Given the description of an element on the screen output the (x, y) to click on. 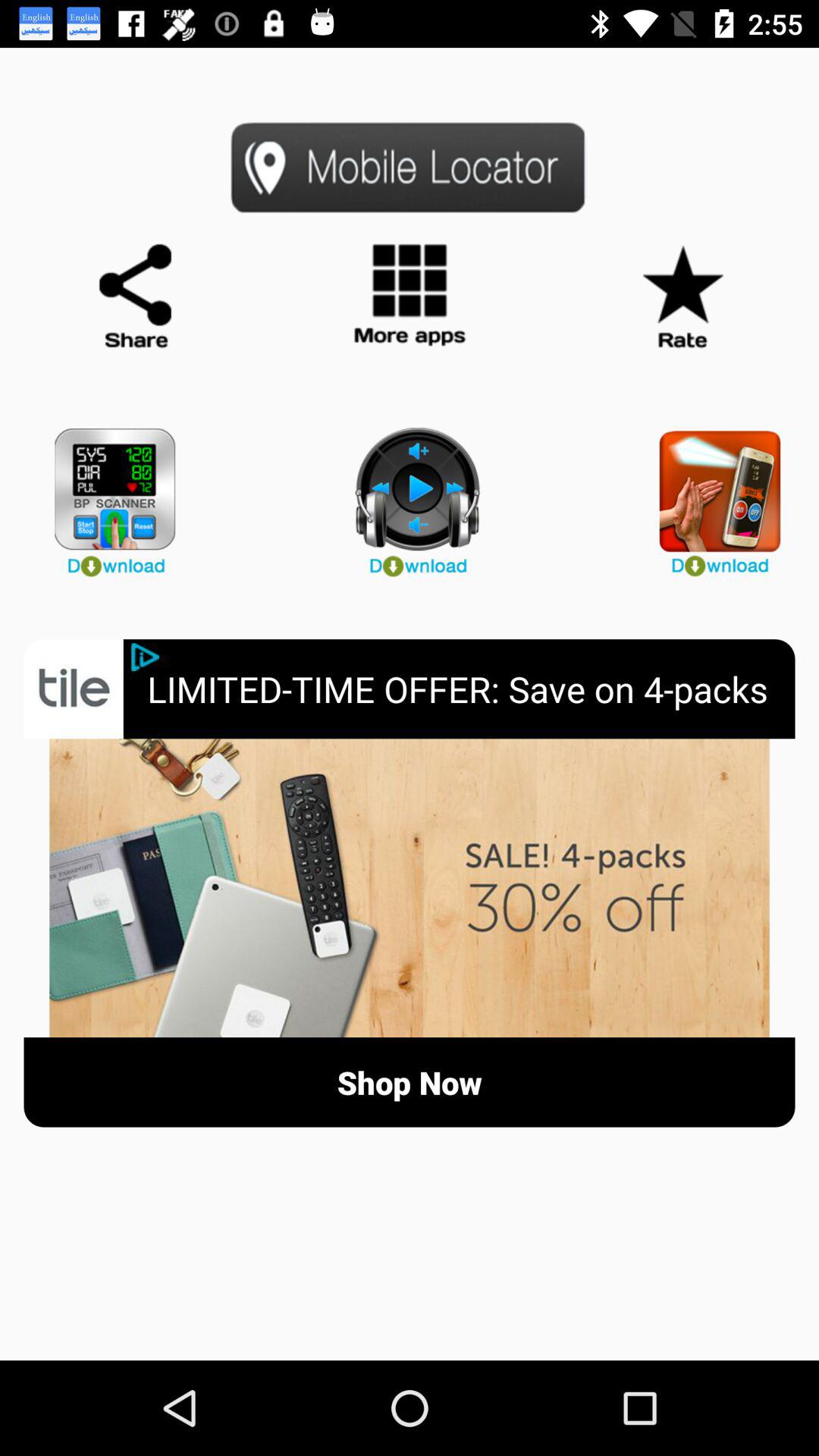
enter a rating (682, 296)
